Given the description of an element on the screen output the (x, y) to click on. 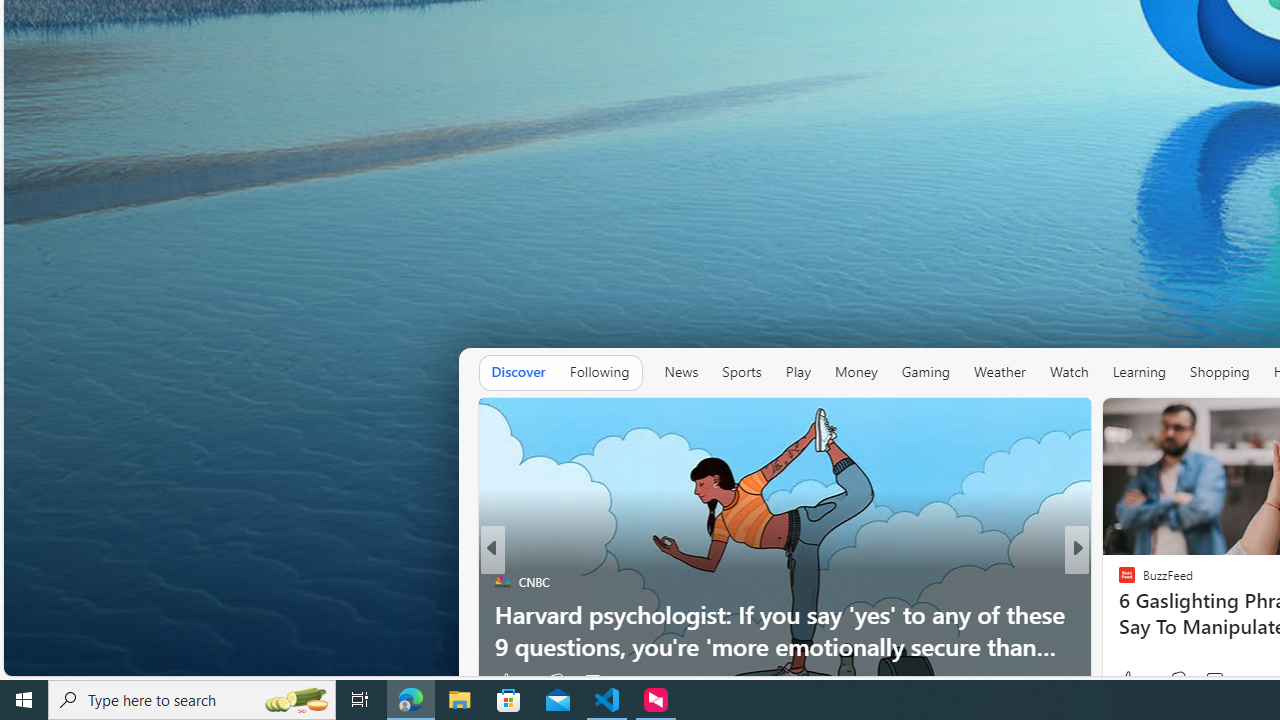
CNBC (502, 581)
View comments 8 Comment (1215, 681)
Sports (741, 371)
Money (855, 372)
Play (797, 371)
View comments 89 Comment (1215, 681)
177 Like (1132, 681)
5k Like (512, 681)
View comments 274 Comment (1220, 681)
Watch (1068, 371)
View comments 16 Comment (1209, 681)
Fox Business (1117, 581)
